Given the description of an element on the screen output the (x, y) to click on. 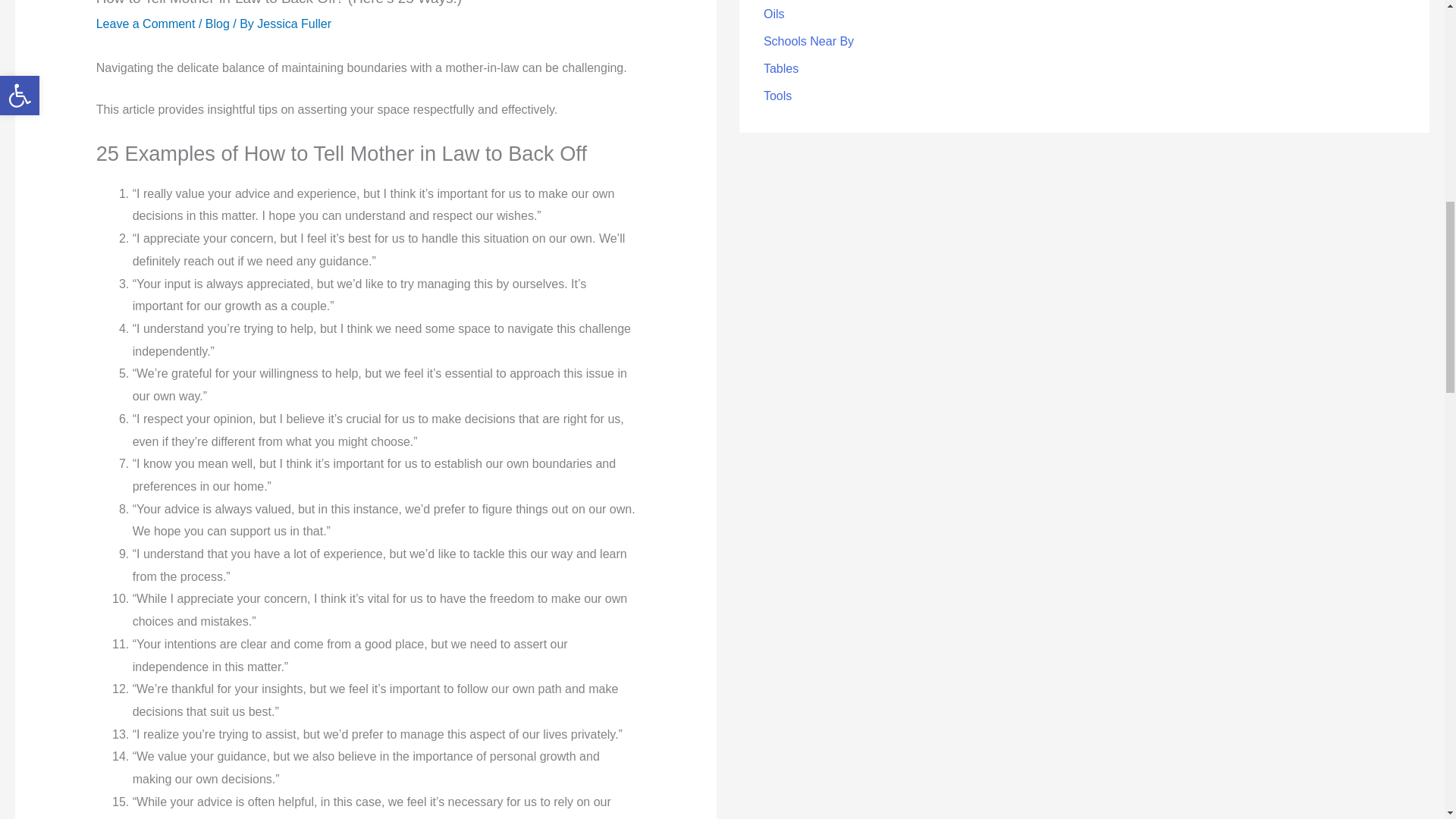
View all posts by Jessica Fuller (294, 23)
Leave a Comment (145, 23)
Blog (217, 23)
Jessica Fuller (294, 23)
